Given the description of an element on the screen output the (x, y) to click on. 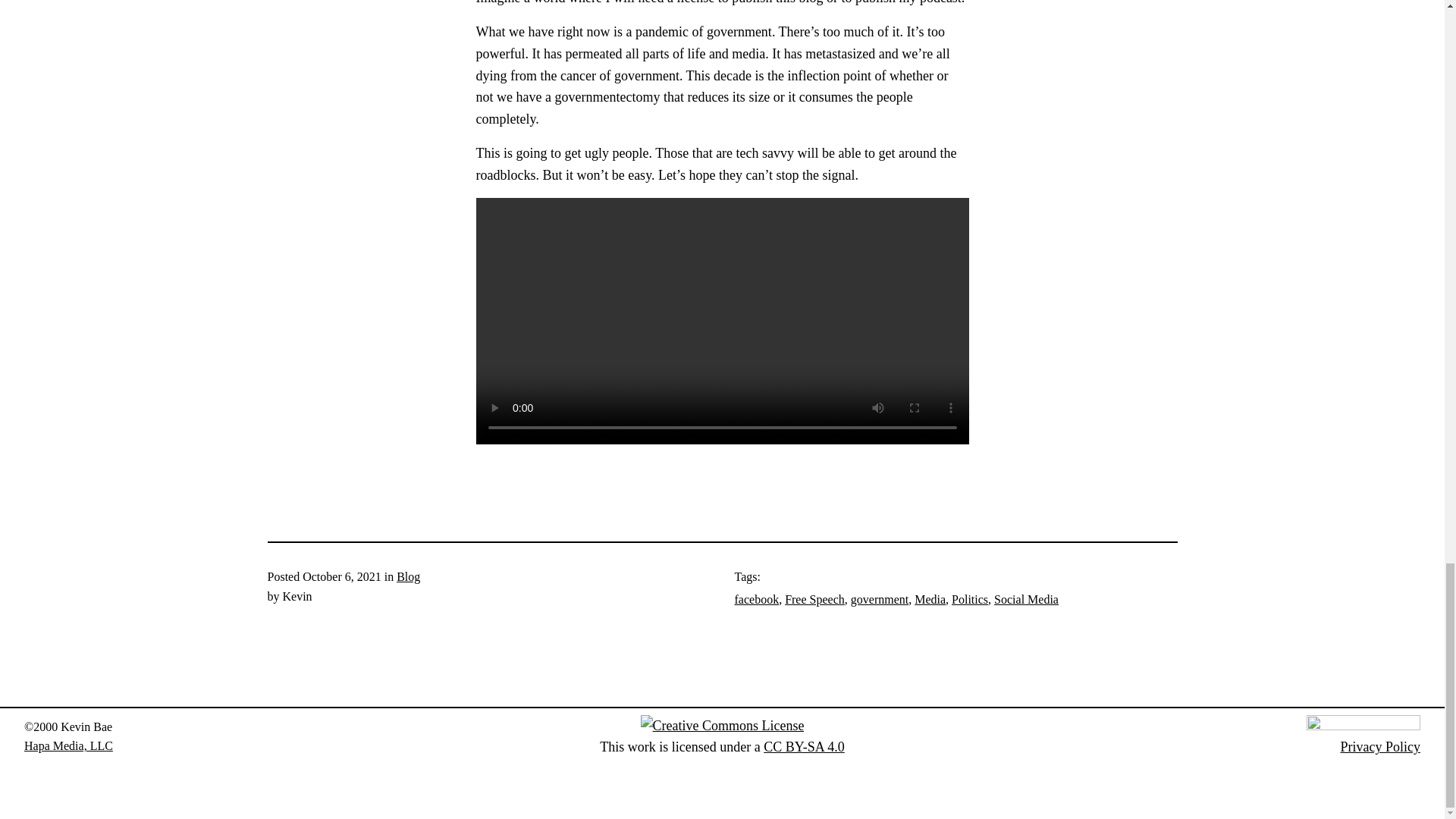
Hapa Media, LLC (68, 745)
Media (929, 599)
Social Media (1026, 599)
government (879, 599)
Privacy Policy (1380, 746)
facebook (755, 599)
Free Speech (814, 599)
Blog (408, 576)
CC BY-SA 4.0 (803, 746)
Politics (970, 599)
